Given the description of an element on the screen output the (x, y) to click on. 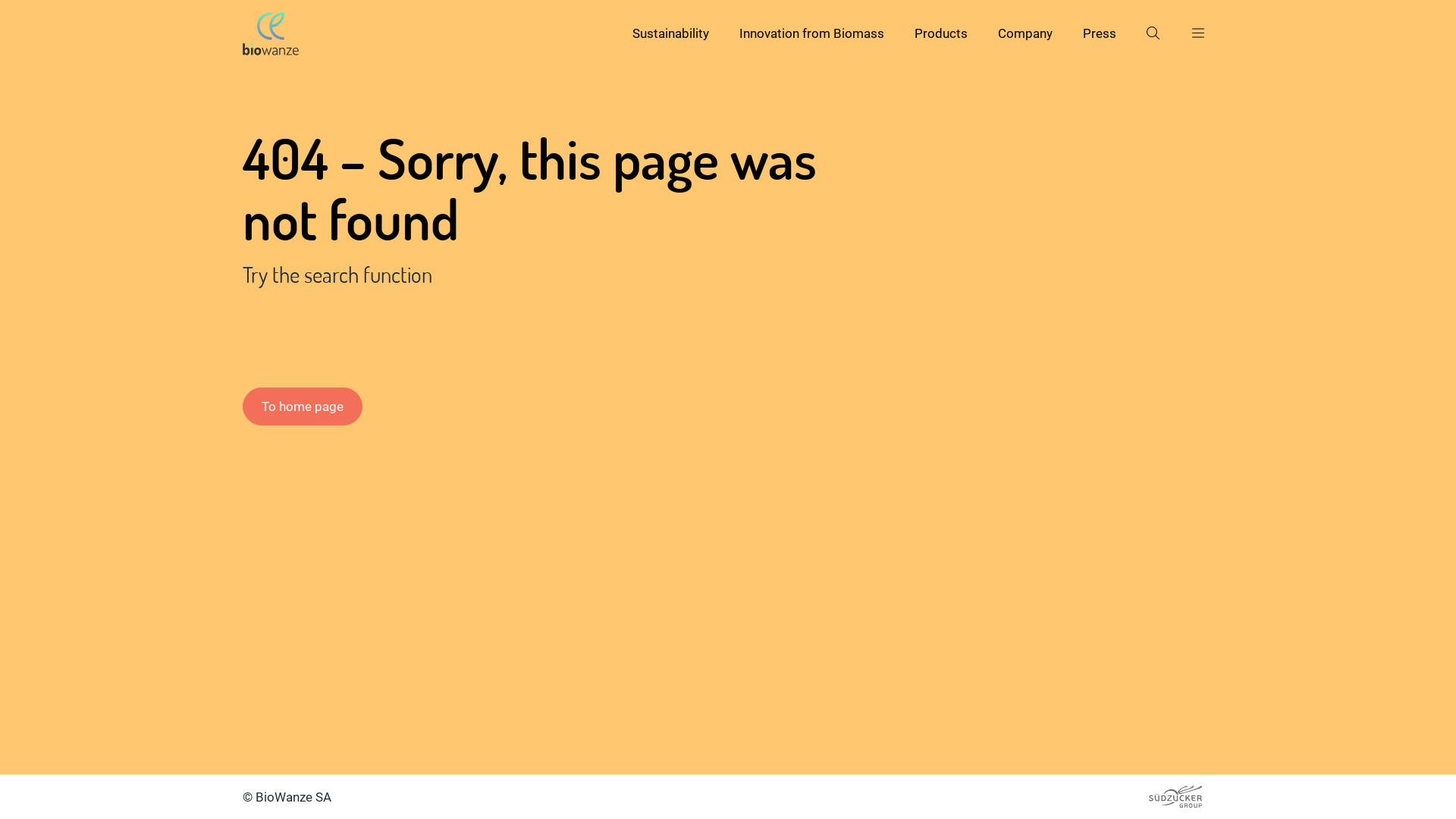
Press Element type: text (1099, 33)
Company Element type: text (1024, 33)
Sustainability Element type: text (670, 33)
To home page Element type: text (302, 406)
Products Element type: text (940, 33)
Innovation from Biomass Element type: text (811, 33)
